Given the description of an element on the screen output the (x, y) to click on. 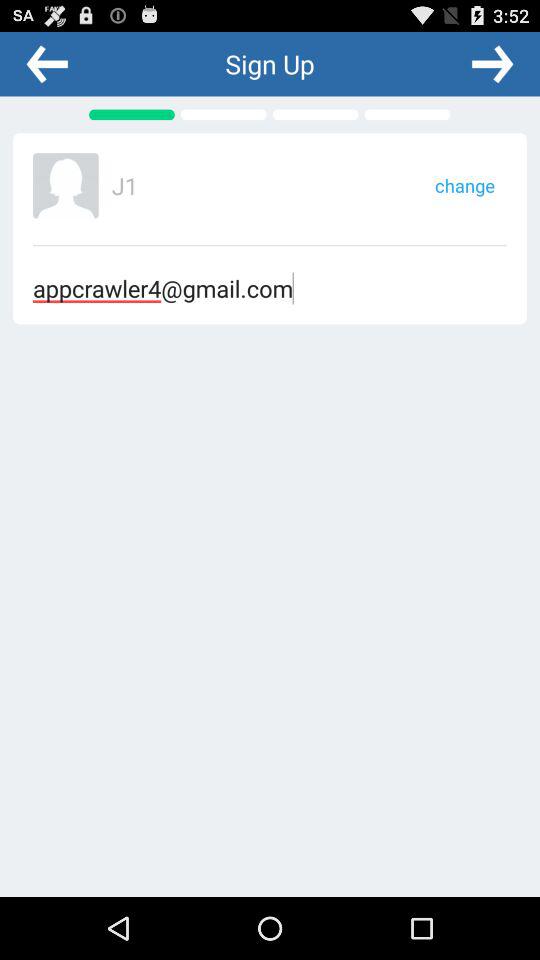
go forward a page (492, 63)
